Given the description of an element on the screen output the (x, y) to click on. 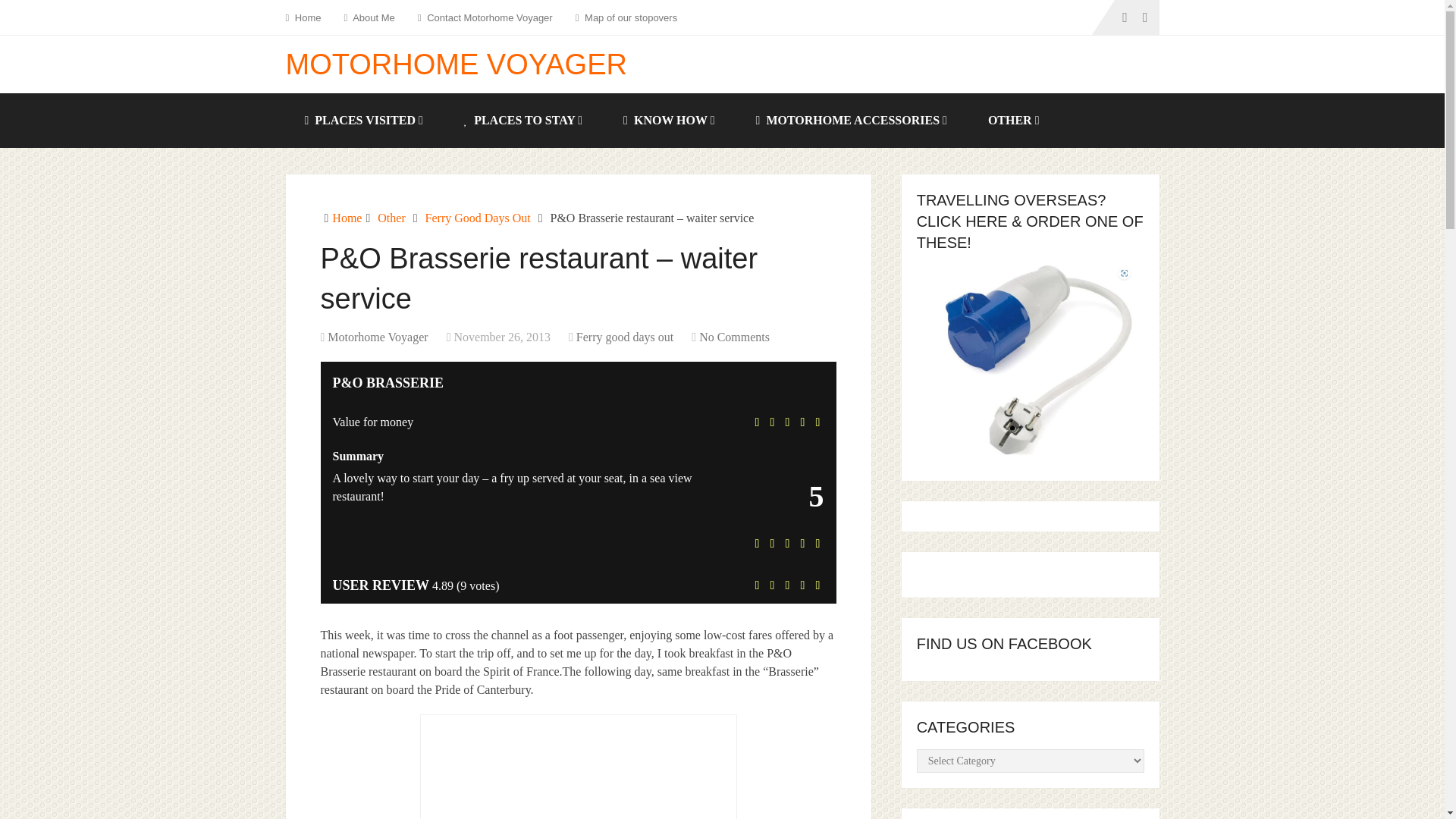
MOTORHOME ACCESSORIES (852, 120)
PLACES VISITED (364, 120)
Ferry Good Days Out (478, 217)
PLACES TO STAY (524, 120)
Home (346, 217)
View all posts in Ferry good days out (624, 336)
Contact Motorhome Voyager (485, 17)
About Me (369, 17)
Home (308, 17)
Motorhome Voyager (377, 336)
